Given the description of an element on the screen output the (x, y) to click on. 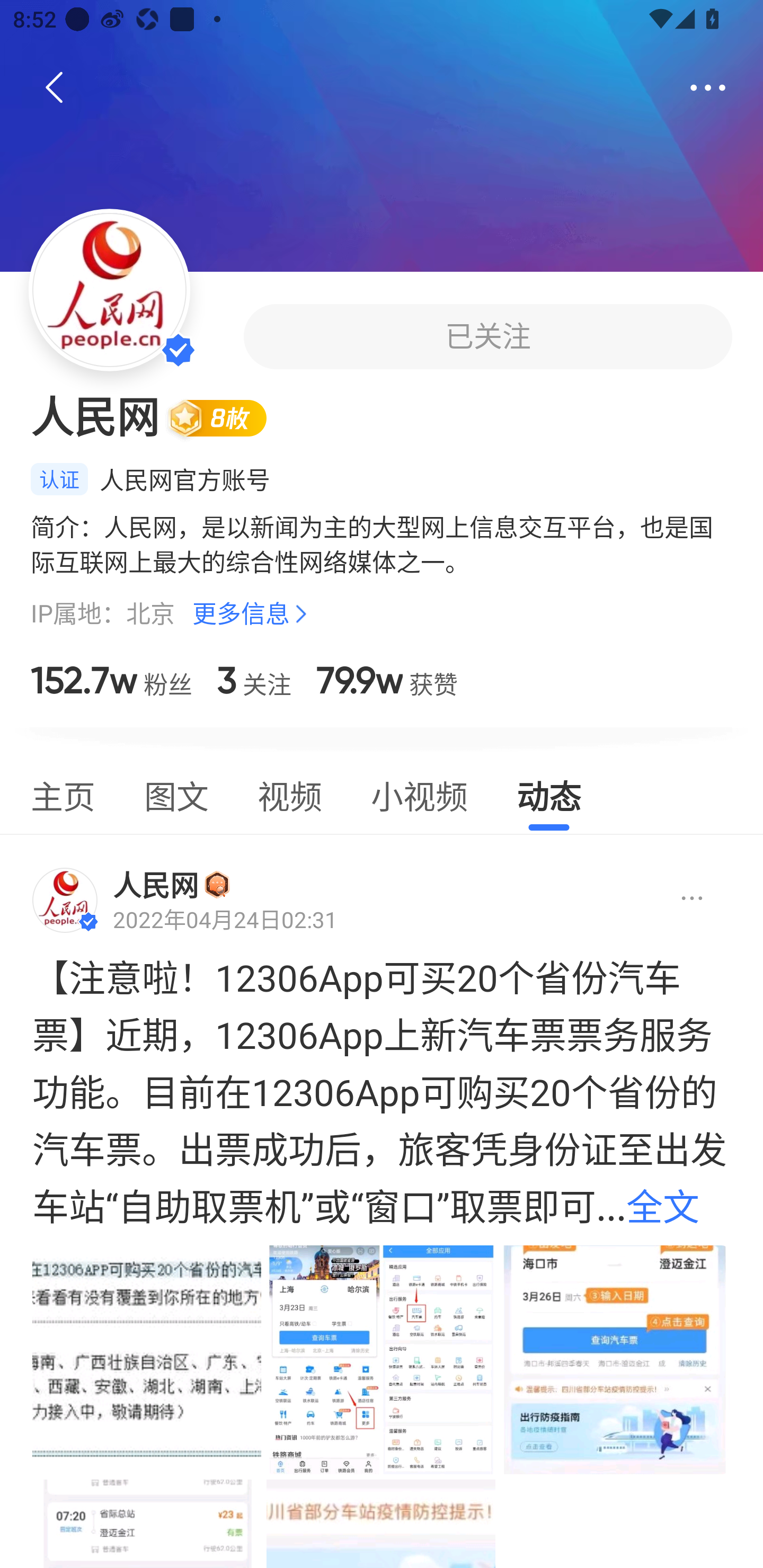
 返回 (54, 87)
 更多 (707, 87)
已关注 (487, 336)
8枚 (224, 417)
认证 (58, 478)
简介：人民网，是以新闻为主的大型网上信息交互平台，也是国际互联网上最大的综合性网络媒体之一。 (381, 543)
152.7w 粉丝 (111, 680)
3 关注 (253, 680)
79.9w 获赞 (386, 680)
主页 (62, 793)
图文 (176, 793)
视频 (289, 793)
小视频 (419, 793)
动态 (548, 793)
人民网 (155, 884)
 (676, 899)
勋章 (216, 884)
2022年04月24日02:31 (224, 919)
